Given the description of an element on the screen output the (x, y) to click on. 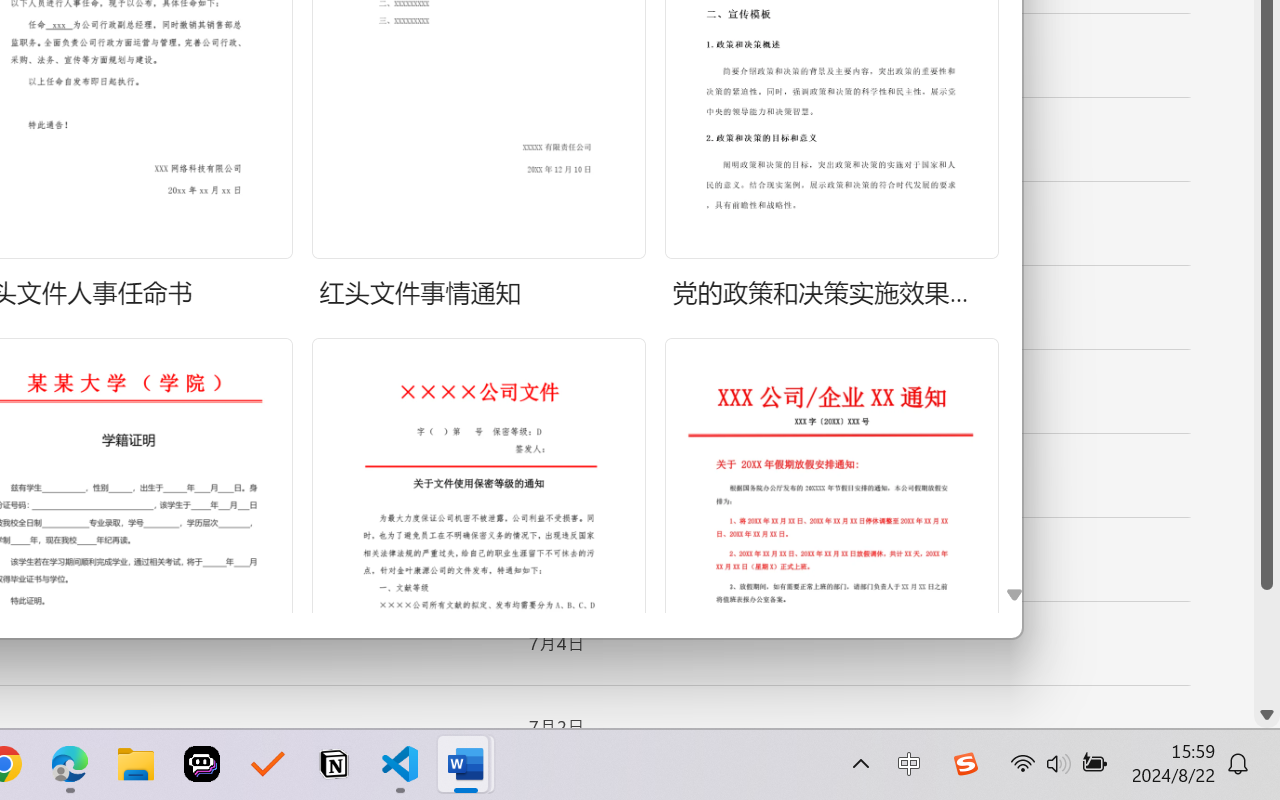
Pin this item to the list (480, 727)
